Given the description of an element on the screen output the (x, y) to click on. 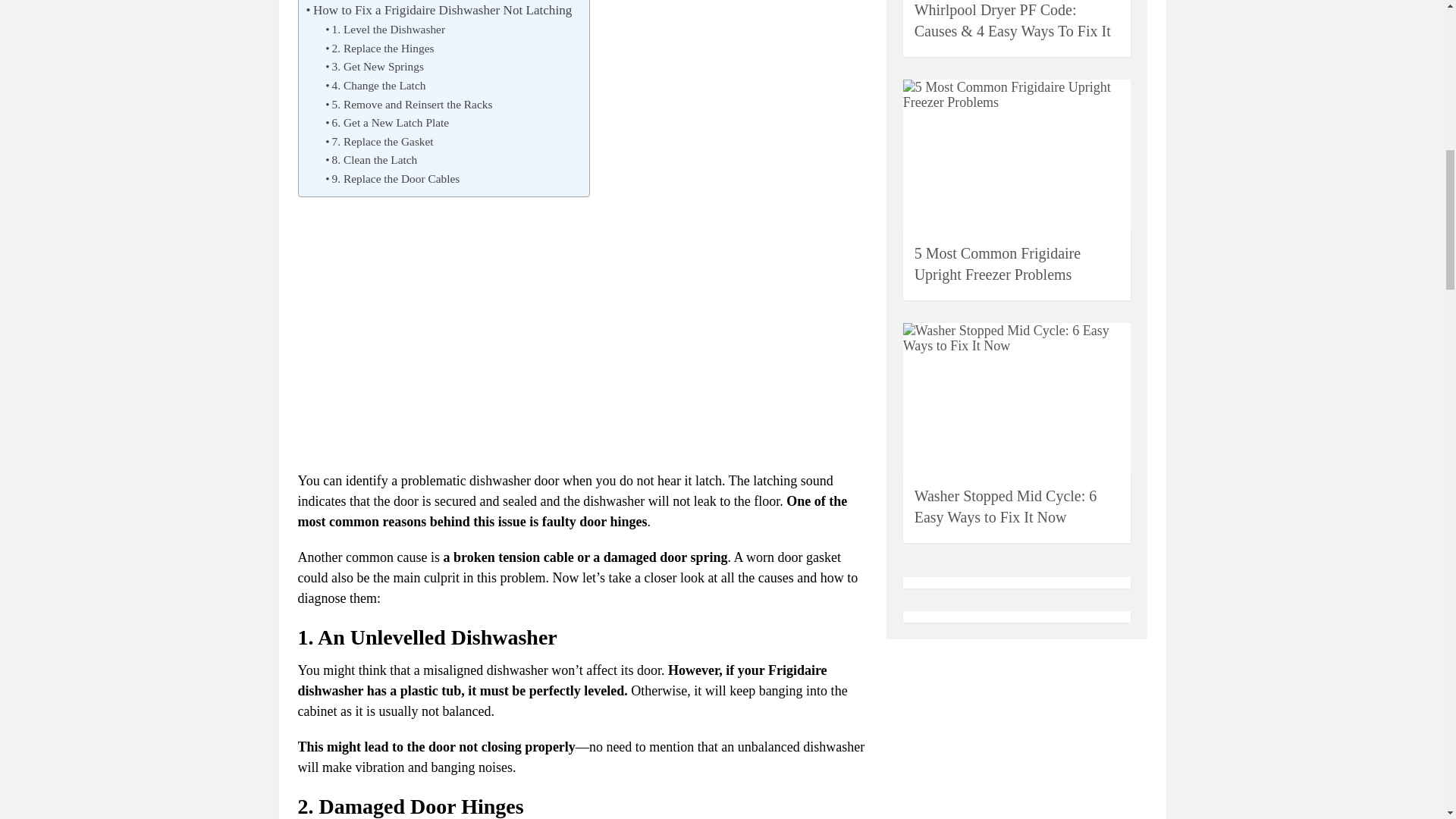
8. Clean the Latch  (372, 159)
3. Get New Springs  (375, 66)
1. Level the Dishwasher  (386, 29)
How to Fix a Frigidaire Dishwasher Not Latching (438, 10)
4. Change the Latch  (376, 85)
9. Replace the Door Cables  (393, 179)
5. Remove and Reinsert the Racks (408, 104)
How to Fix a Frigidaire Dishwasher Not Latching (438, 10)
2. Replace the Hinges  (380, 48)
